Given the description of an element on the screen output the (x, y) to click on. 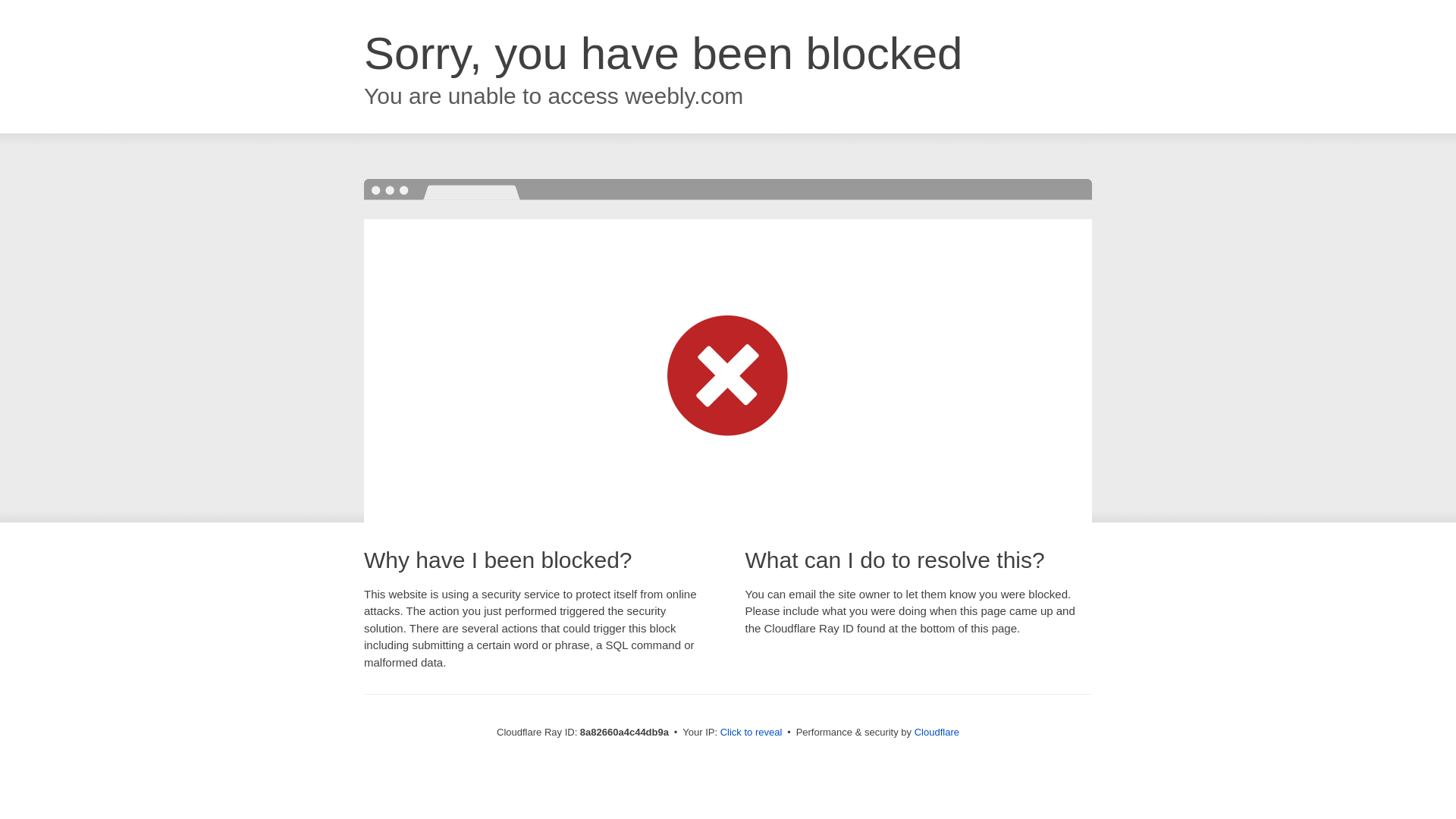
Cloudflare (936, 731)
Click to reveal (751, 732)
